Given the description of an element on the screen output the (x, y) to click on. 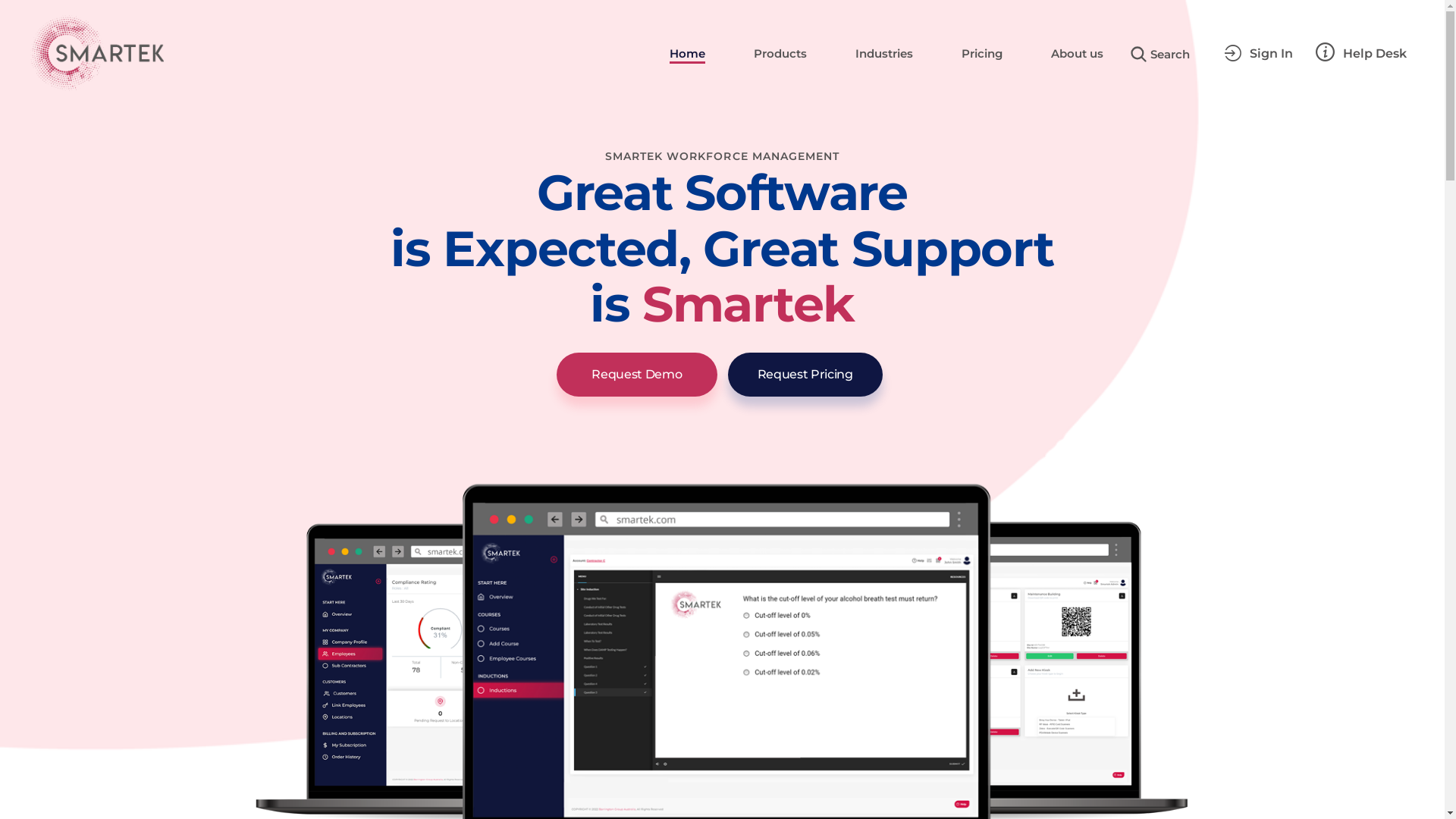
Request Demo Element type: text (636, 373)
Search Element type: text (1159, 53)
Help Desk Element type: text (1360, 53)
Home Element type: text (687, 52)
Sign In Element type: text (1258, 53)
Products Element type: text (780, 52)
Industries Element type: text (884, 52)
Pricing Element type: text (981, 52)
Request Pricing Element type: text (805, 373)
About us Element type: text (1076, 52)
